Given the description of an element on the screen output the (x, y) to click on. 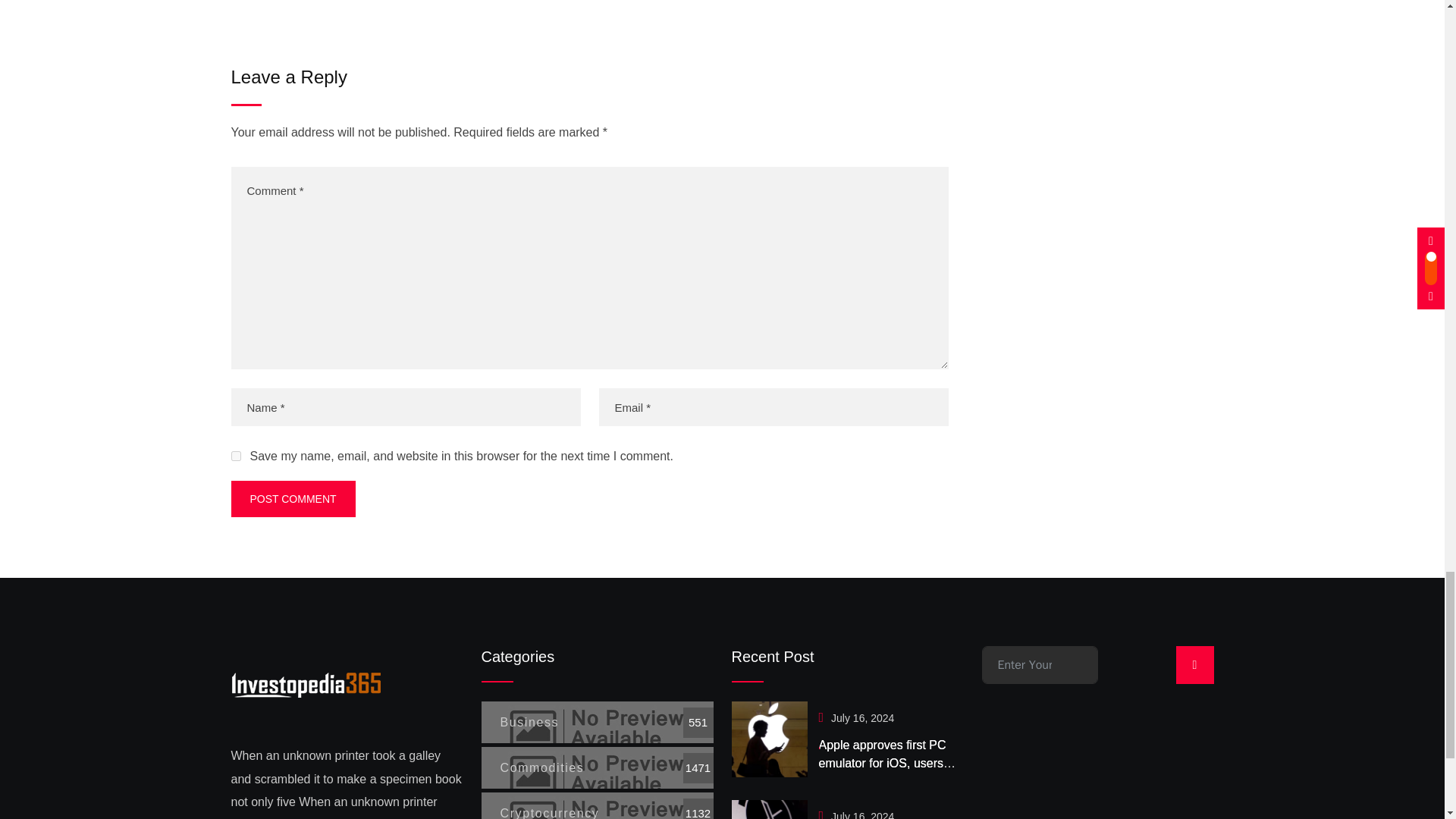
Post Comment (292, 498)
yes (235, 456)
Post Comment (292, 498)
